Given the description of an element on the screen output the (x, y) to click on. 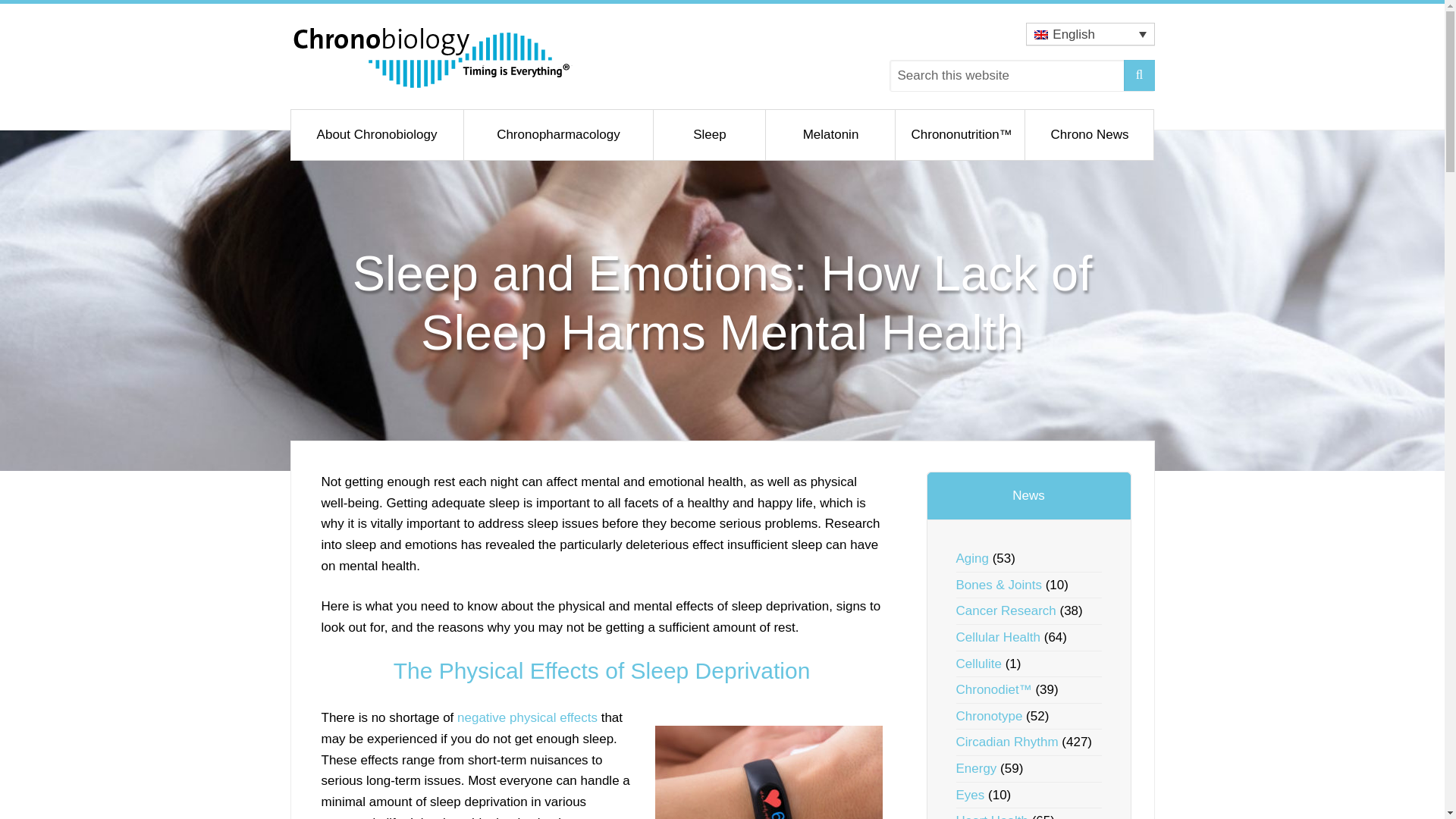
About Chronobiology (377, 134)
Sleep (709, 134)
negative physical effects (526, 717)
English (1089, 33)
Chronobiology.com (431, 56)
Chronopharmacology (558, 134)
Chrono News (1089, 134)
Horizontal In Text Image 2 (768, 772)
Melatonin (830, 134)
